Given the description of an element on the screen output the (x, y) to click on. 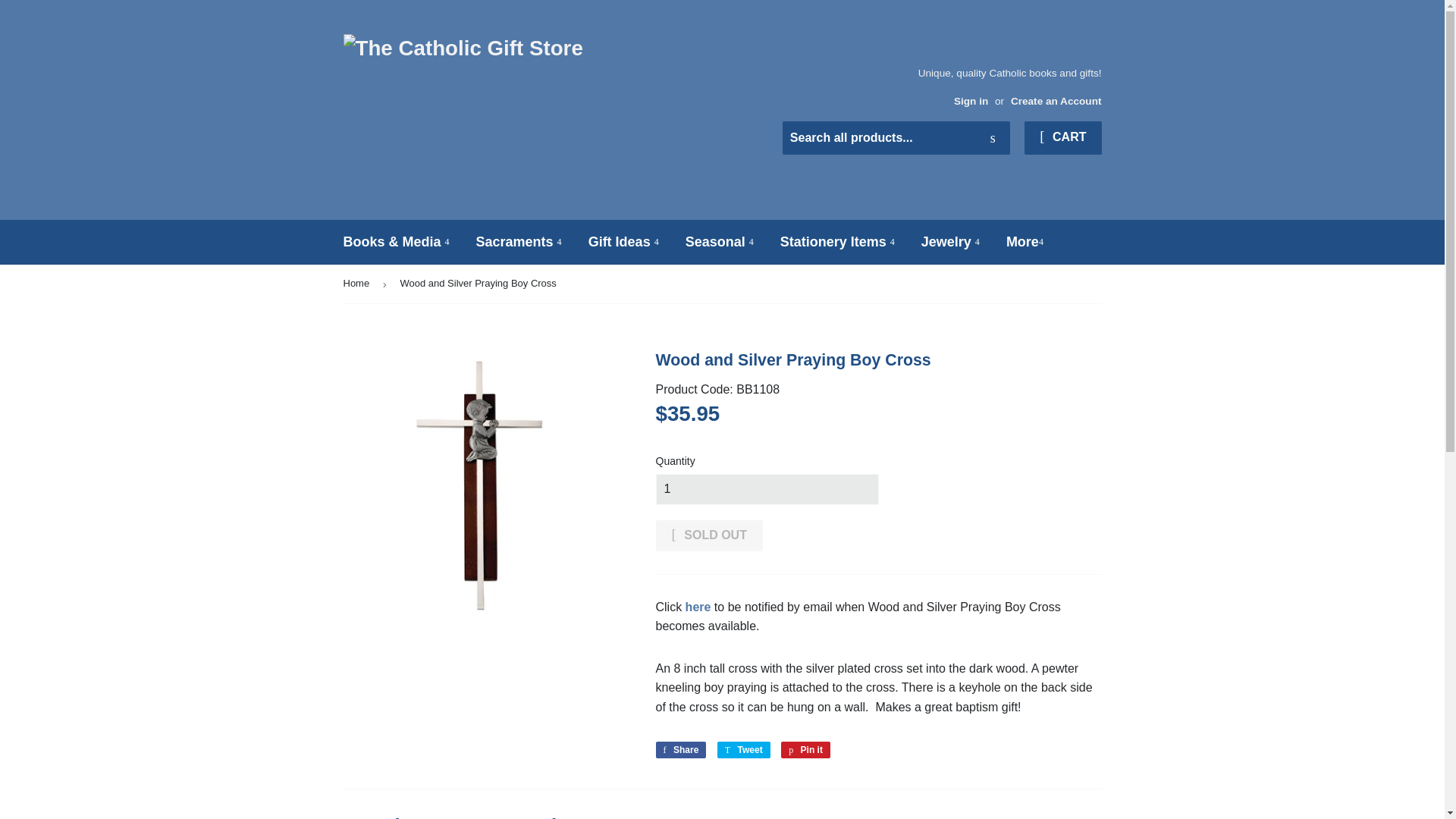
Search (992, 138)
Stationery Items (836, 242)
Tweet on Twitter (743, 750)
Sacraments (518, 242)
CART (1062, 137)
Seasonal (719, 242)
Share on Facebook (680, 750)
1 (766, 489)
Gift Ideas (622, 242)
Sign in (970, 101)
Create an Account (1056, 101)
Pin on Pinterest (804, 750)
